Given the description of an element on the screen output the (x, y) to click on. 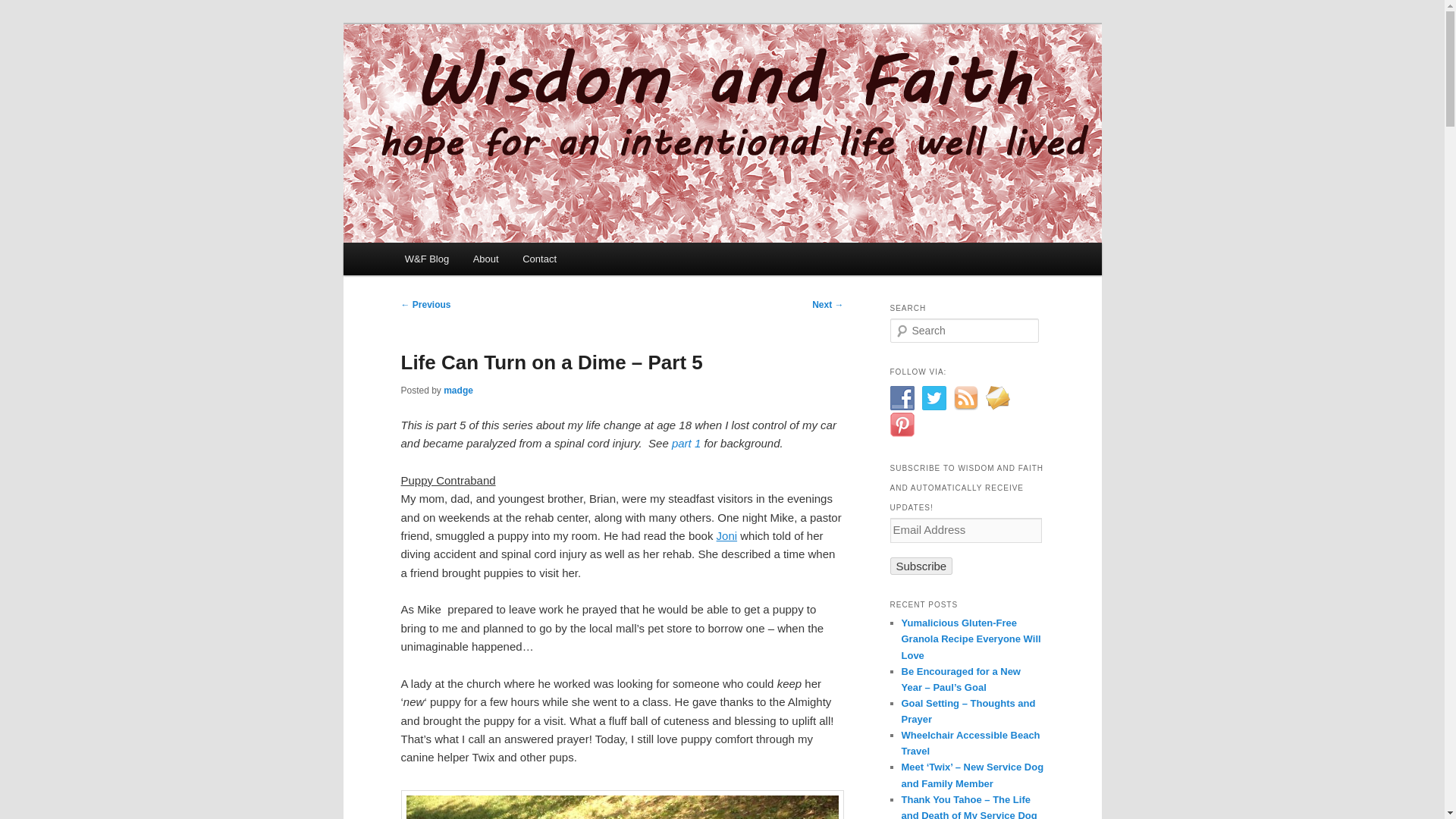
View all posts by madge (458, 389)
Follow via: Twitter (933, 397)
Wisdom and Faith (497, 78)
About (486, 258)
Joni (728, 535)
Follow via: Facebook (901, 397)
Wisdom and Faith (497, 78)
Contact (539, 258)
